Given the description of an element on the screen output the (x, y) to click on. 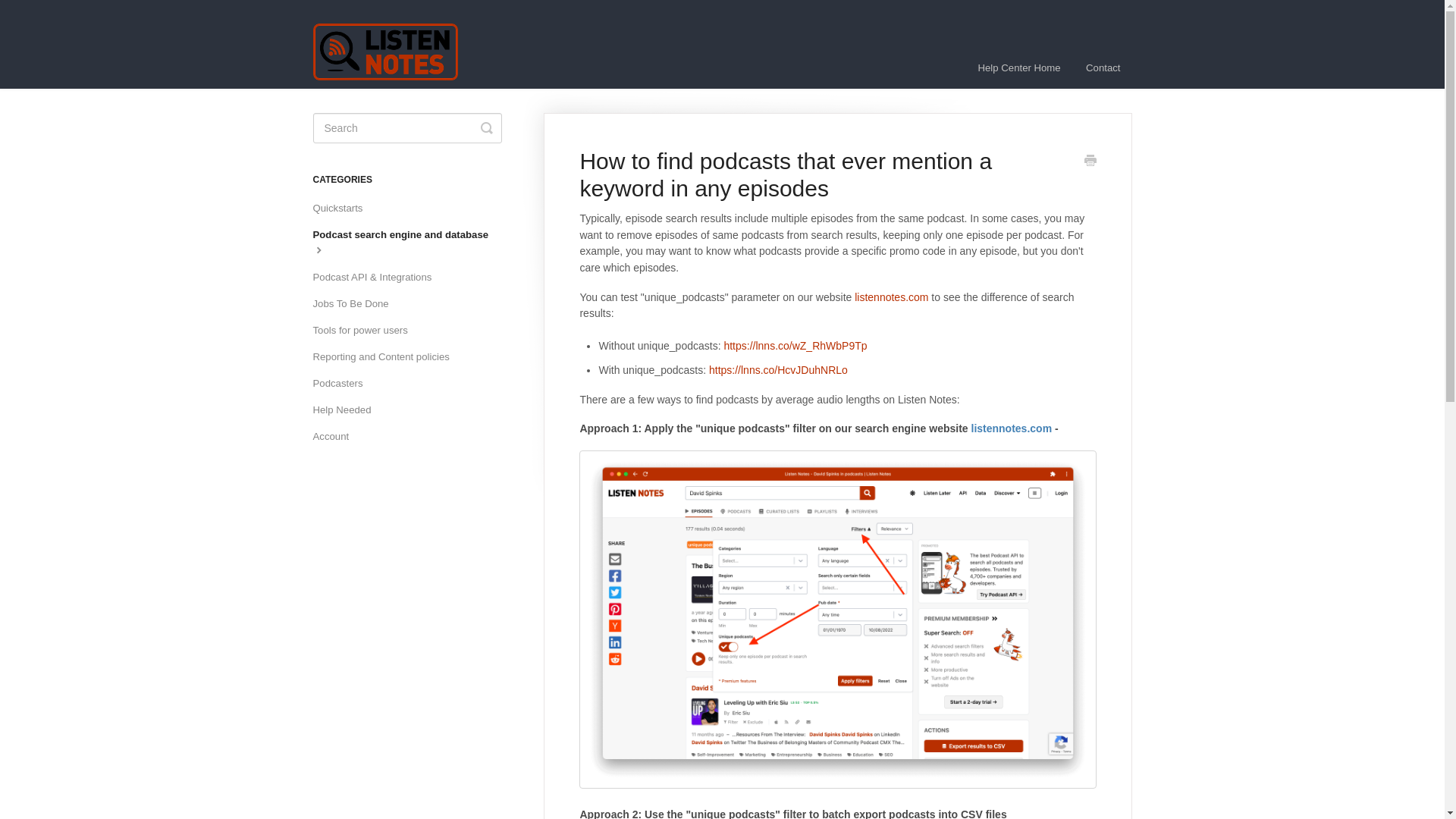
Help Needed (347, 410)
listennotes.com (1011, 428)
listennotes.com (891, 297)
Contact (1102, 67)
Podcast search engine and database (412, 242)
Quickstarts (343, 208)
Jobs To Be Done (355, 303)
Reporting and Content policies (386, 356)
Account (336, 436)
Podcasters (343, 383)
